Given the description of an element on the screen output the (x, y) to click on. 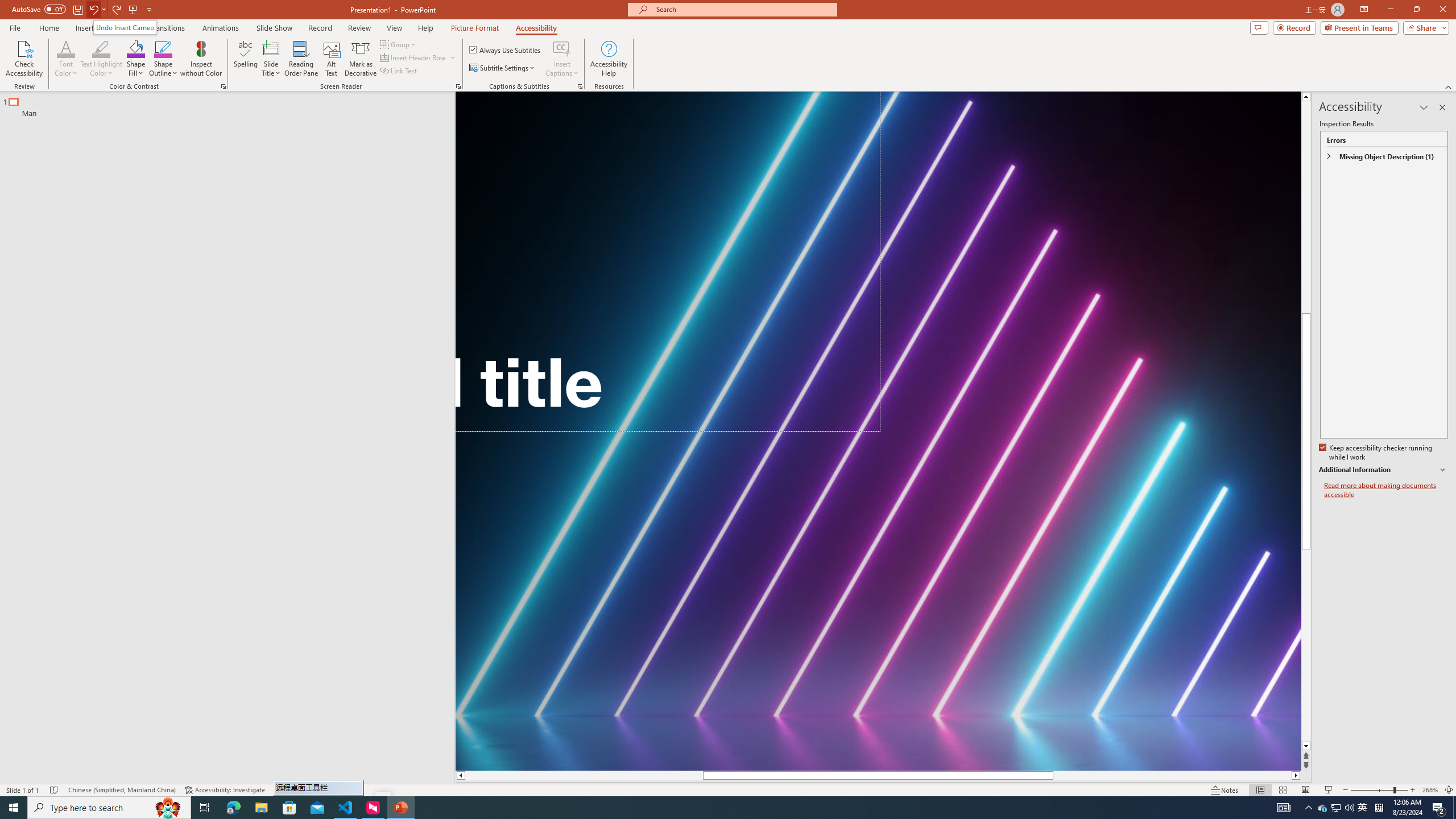
Inspect without Color (201, 58)
Picture Format (475, 28)
